Given the description of an element on the screen output the (x, y) to click on. 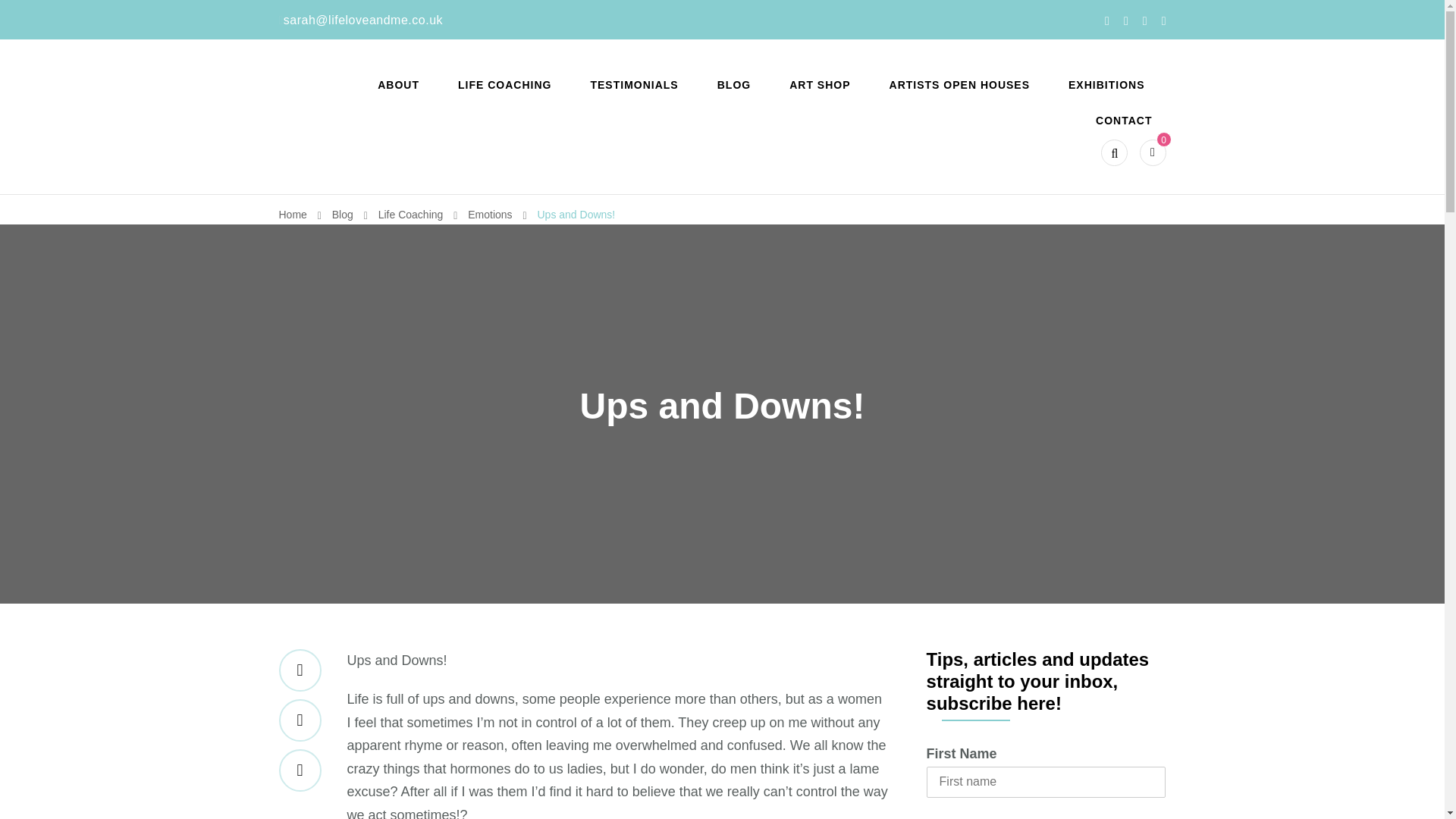
BLOG (733, 85)
Life Coaching (412, 214)
ABOUT (398, 85)
Blog (343, 214)
EXHIBITIONS (1105, 85)
Ups and Downs! (575, 214)
TESTIMONIALS (633, 85)
ART SHOP (819, 85)
Emotions (491, 214)
Home (293, 214)
LIFE COACHING (504, 85)
View your shopping cart (1153, 151)
ARTISTS OPEN HOUSES (959, 85)
0 (1153, 151)
CONTACT (1123, 121)
